Given the description of an element on the screen output the (x, y) to click on. 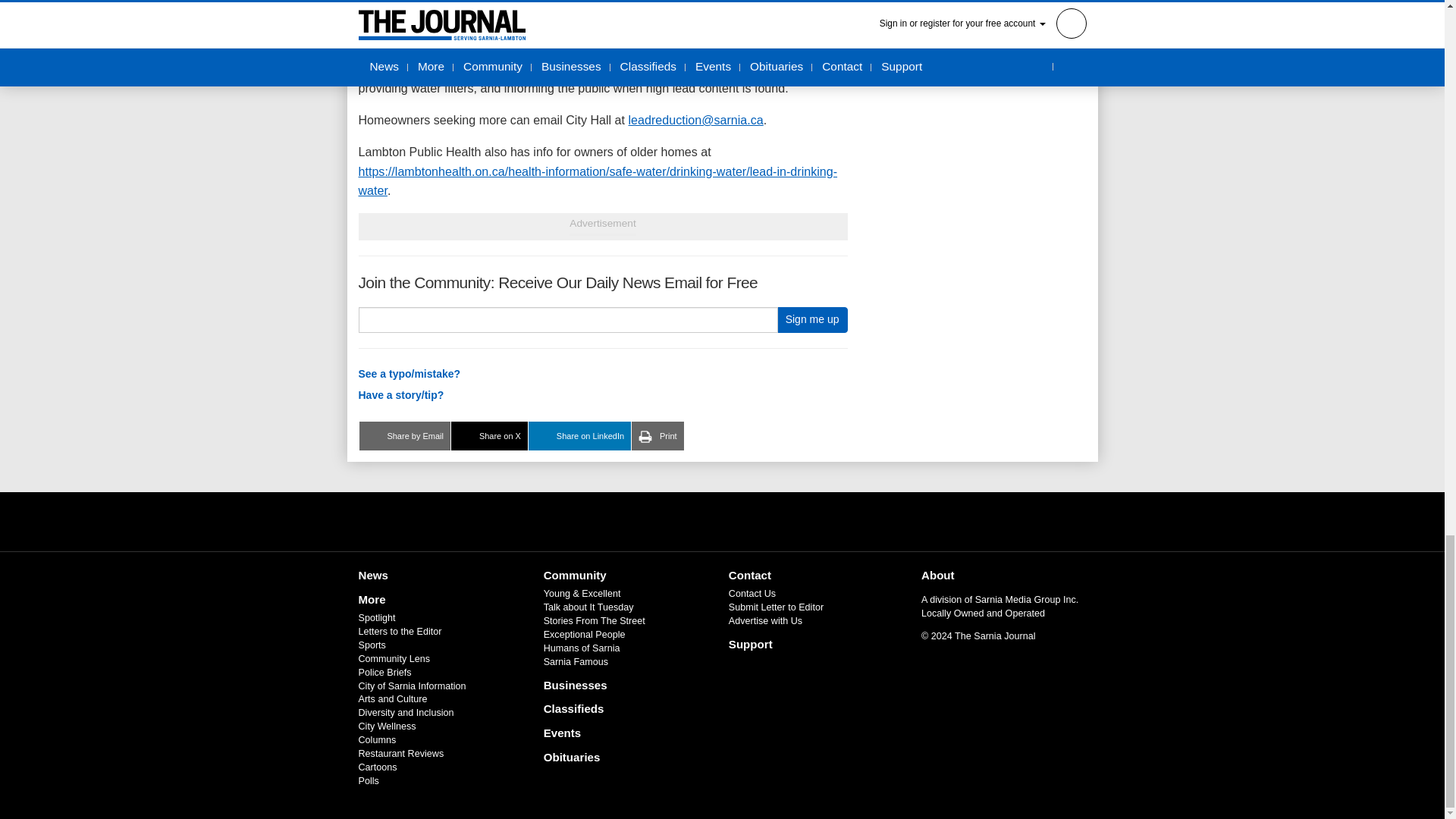
X (721, 521)
Sign me up (812, 319)
YouTube (760, 521)
Facebook (683, 521)
